Given the description of an element on the screen output the (x, y) to click on. 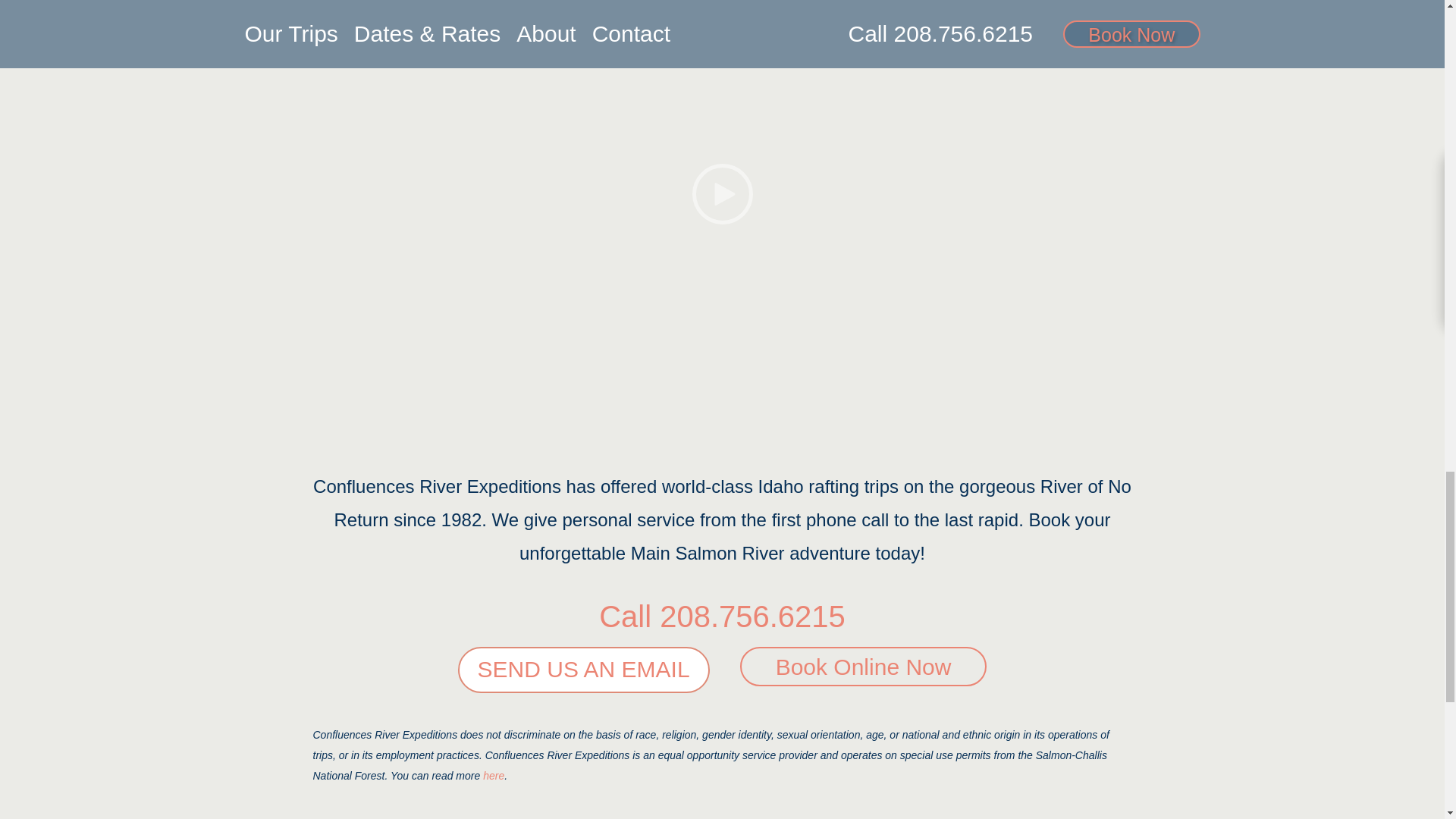
here (493, 775)
SEND US AN EMAIL (584, 670)
Call 208.756.6215 (721, 616)
